Given the description of an element on the screen output the (x, y) to click on. 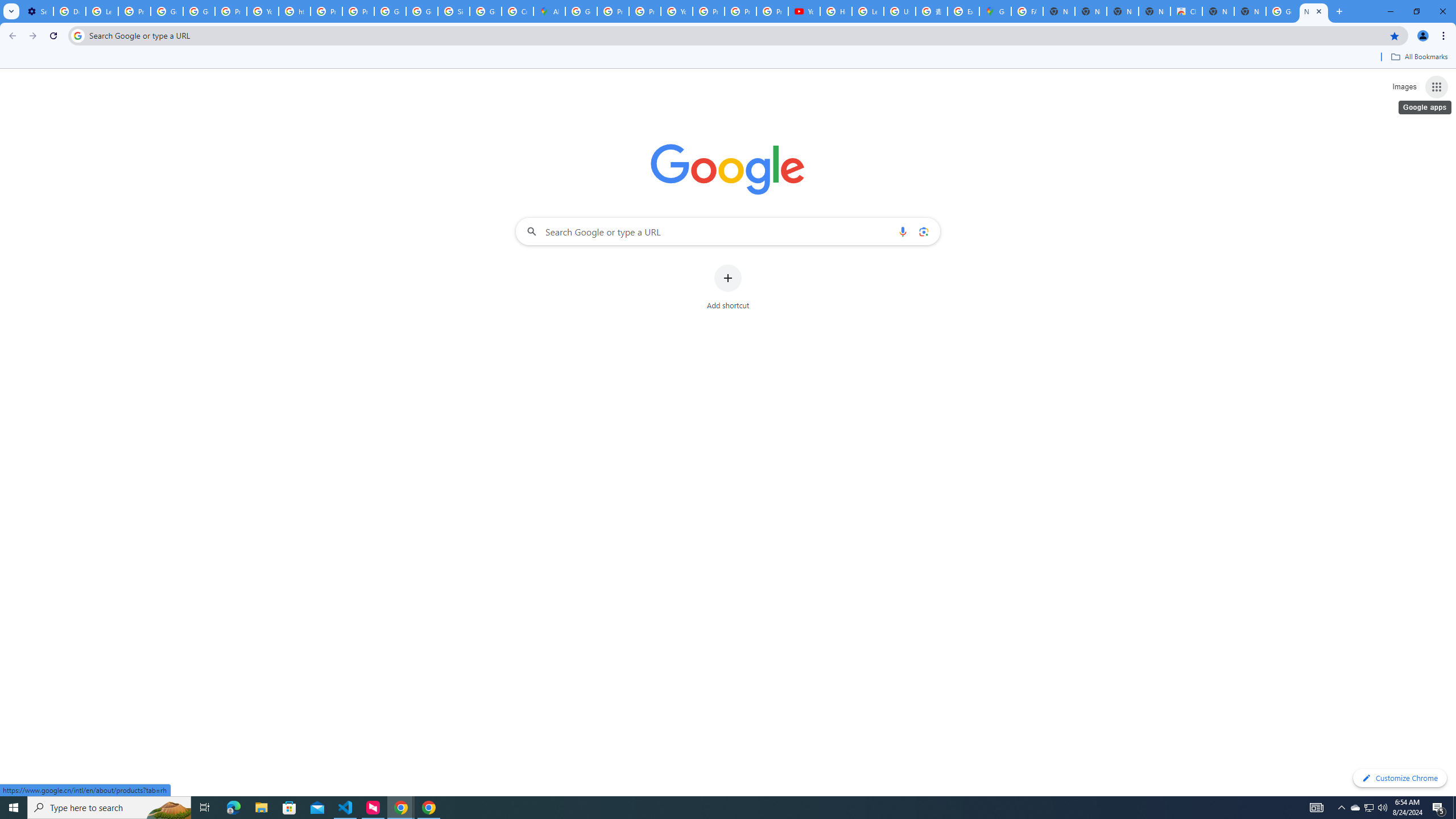
Settings - On startup (37, 11)
Privacy Help Center - Policies Help (613, 11)
Add shortcut (727, 287)
Explore new street-level details - Google Maps Help (963, 11)
Create your Google Account (517, 11)
